Given the description of an element on the screen output the (x, y) to click on. 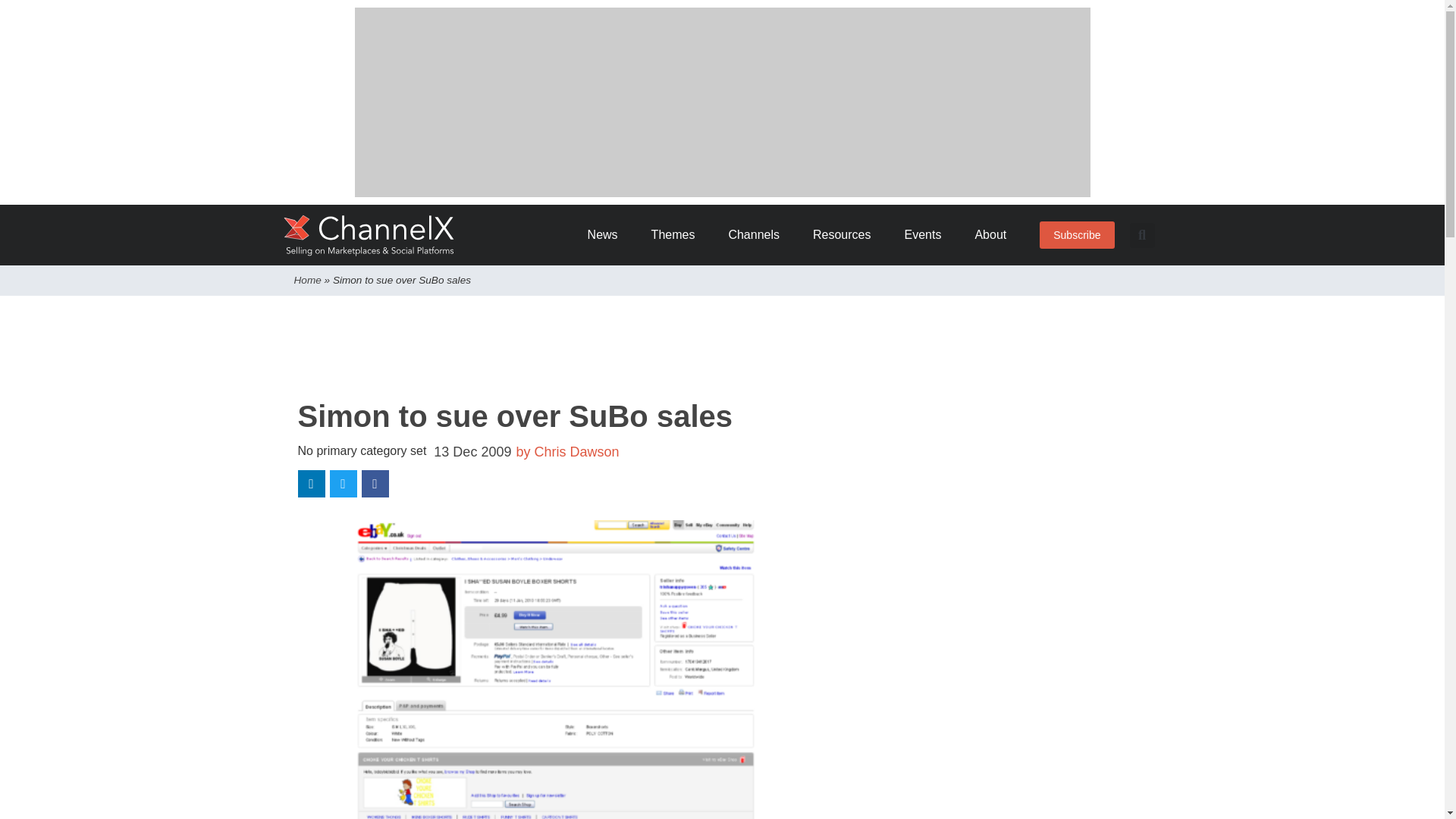
ChannelX Home Page (369, 234)
Channels (758, 234)
News (607, 234)
Themes (678, 234)
Resources (846, 234)
